Given the description of an element on the screen output the (x, y) to click on. 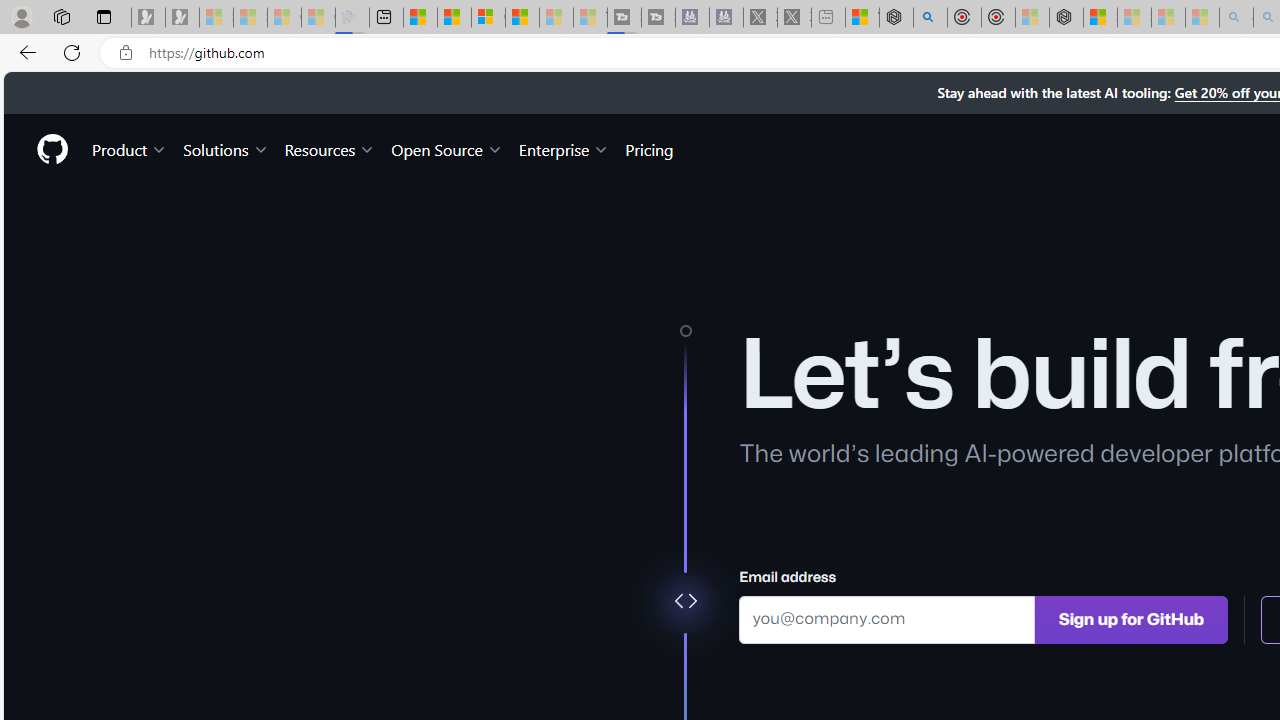
Nordace - Nordace Siena Is Not An Ordinary Backpack (1065, 17)
Pricing (649, 148)
